Given the description of an element on the screen output the (x, y) to click on. 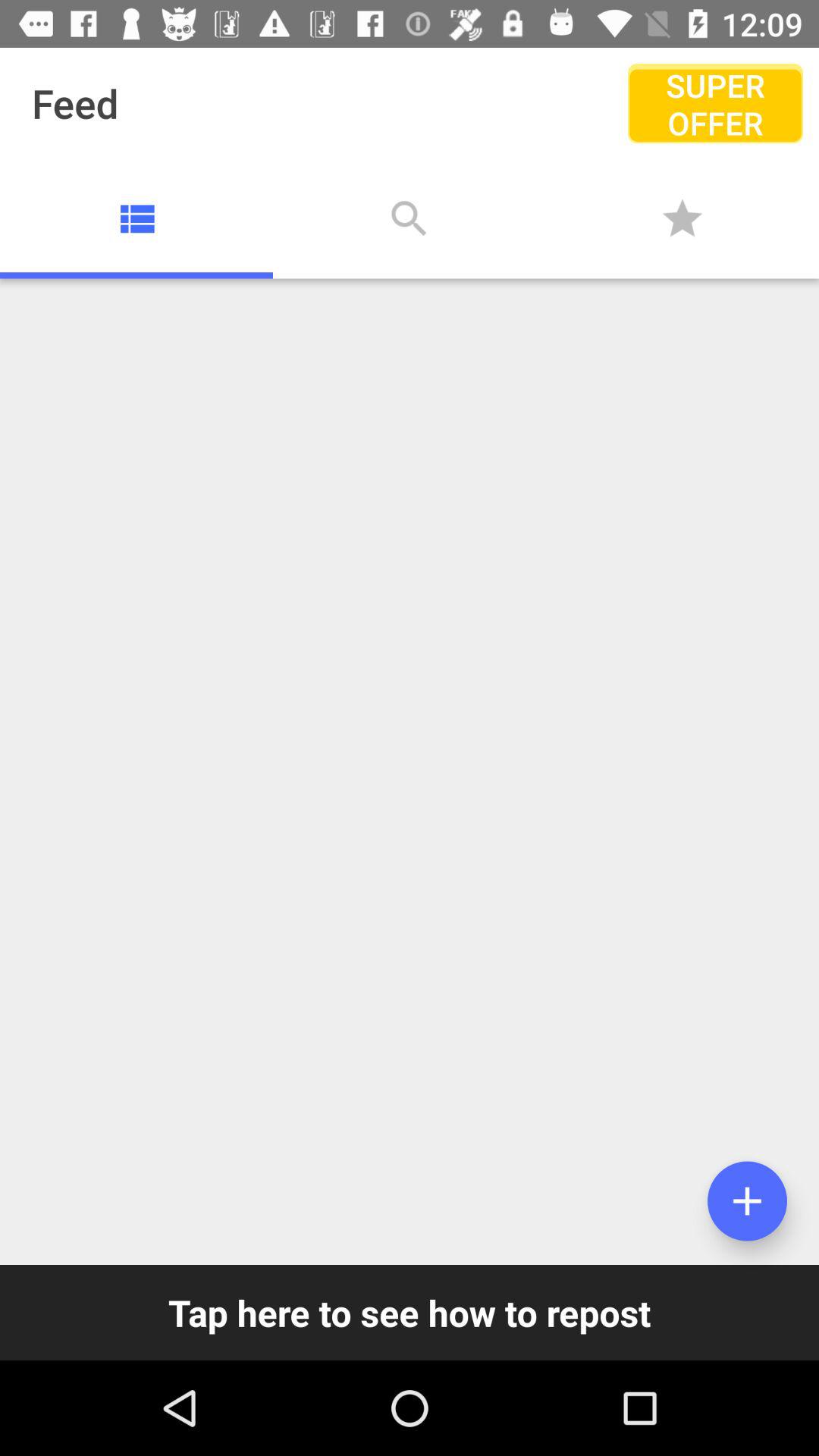
adds (747, 1201)
